Given the description of an element on the screen output the (x, y) to click on. 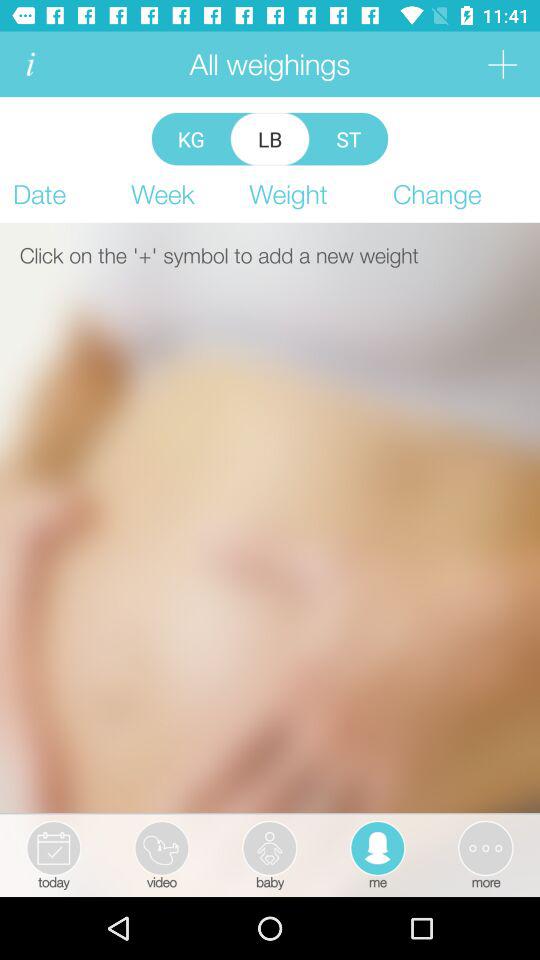
add another weighing (502, 63)
